Given the description of an element on the screen output the (x, y) to click on. 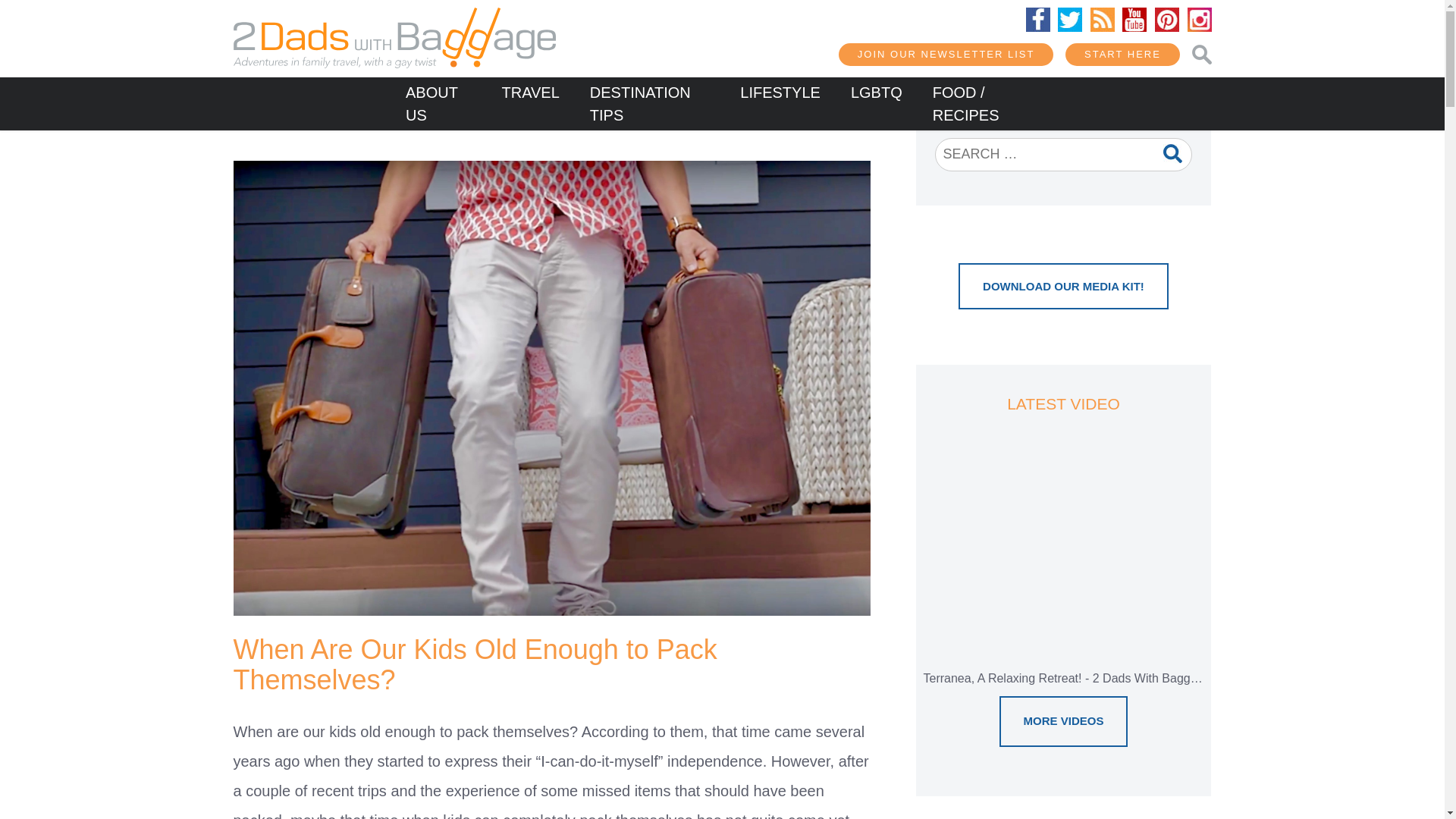
ABOUT US (438, 103)
DESTINATION TIPS (650, 103)
LIFESTYLE (780, 91)
LGBTQ (876, 91)
Terranea, A Relaxing Retreat! - 2 Dads With Baggage (1063, 569)
JOIN OUR NEWSLETTER LIST (946, 54)
START HERE (1122, 54)
TRAVEL (529, 91)
